Given the description of an element on the screen output the (x, y) to click on. 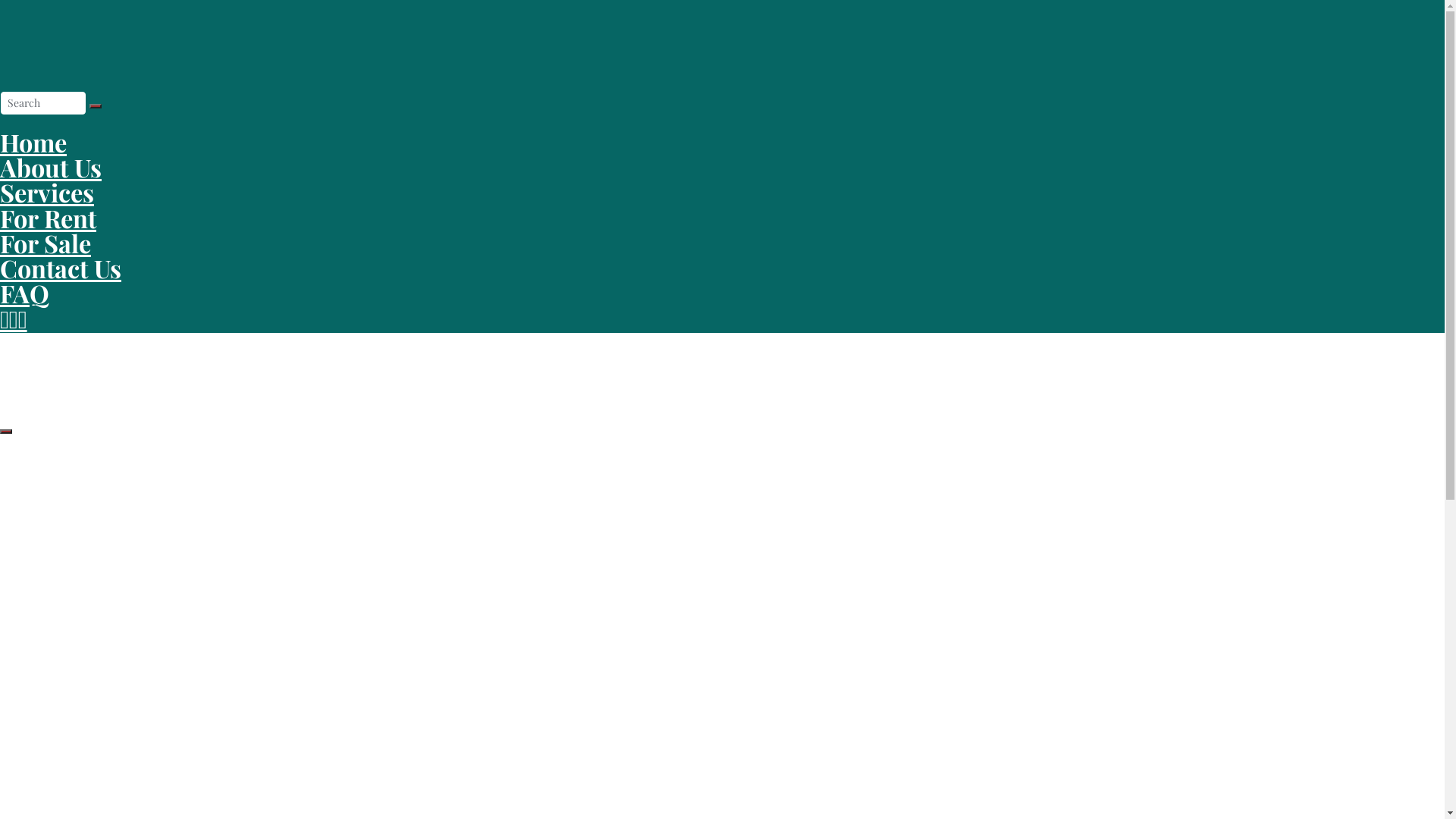
Copy of About Us Element type: text (38, 678)
About Us Element type: text (50, 166)
FAQ Element type: text (24, 292)
For Sale Element type: text (45, 242)
Home Element type: text (33, 141)
Contact Us Element type: text (24, 616)
Contact Us Element type: text (60, 267)
For Rent Element type: text (19, 739)
Home Element type: text (13, 493)
Search Element type: text (95, 105)
For Rent Element type: text (19, 801)
Services Element type: text (47, 191)
For Rent Element type: text (48, 217)
About Us Element type: text (20, 555)
